Given the description of an element on the screen output the (x, y) to click on. 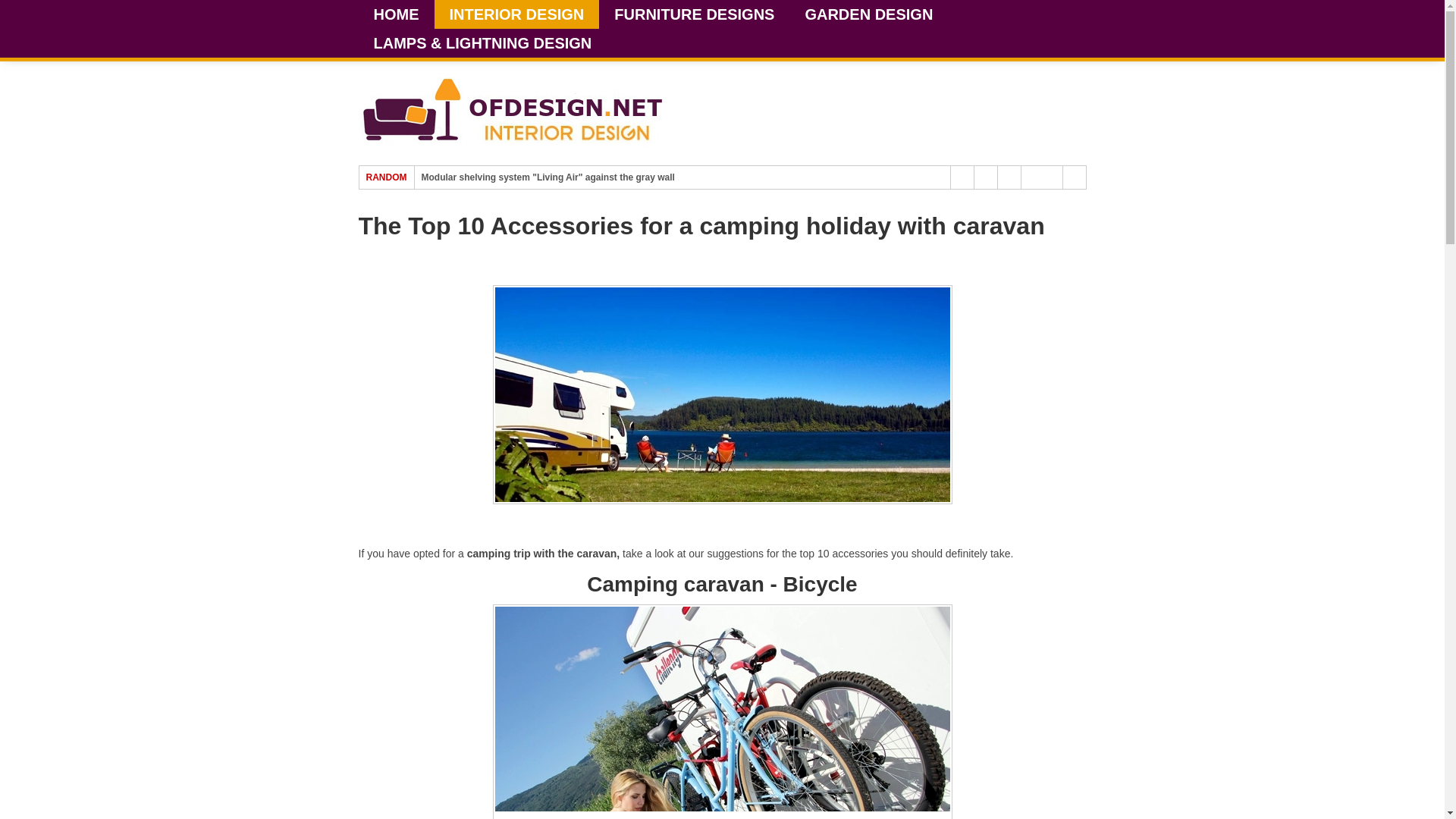
Trailer (722, 711)
Camping (722, 394)
Modular shelving system "Living Air" against the gray wall (548, 176)
INTERIOR DESIGN (515, 14)
HOME (395, 14)
GARDEN DESIGN (868, 14)
FURNITURE DESIGNS (693, 14)
